Given the description of an element on the screen output the (x, y) to click on. 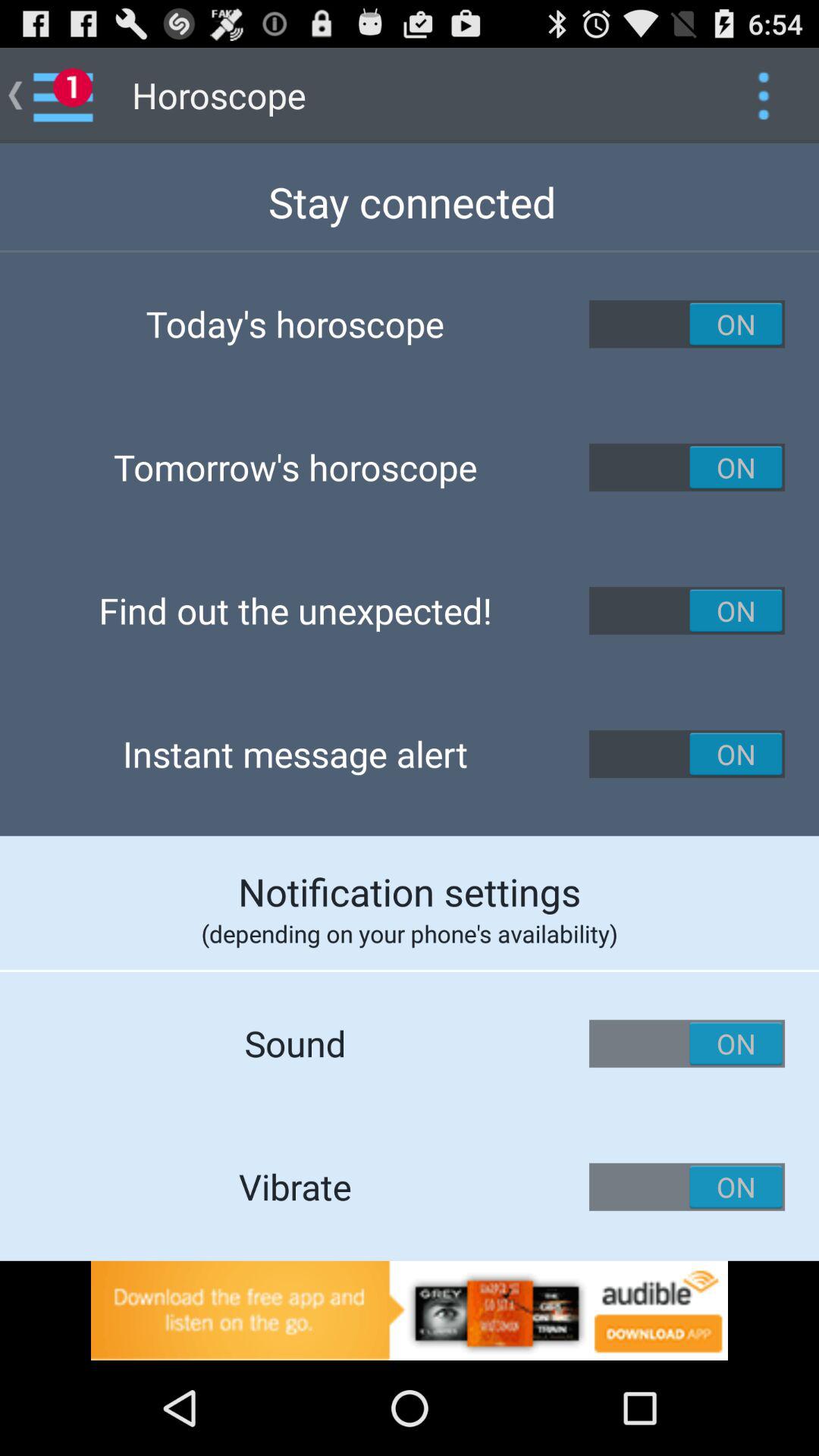
advertisement banner (409, 1310)
